Given the description of an element on the screen output the (x, y) to click on. 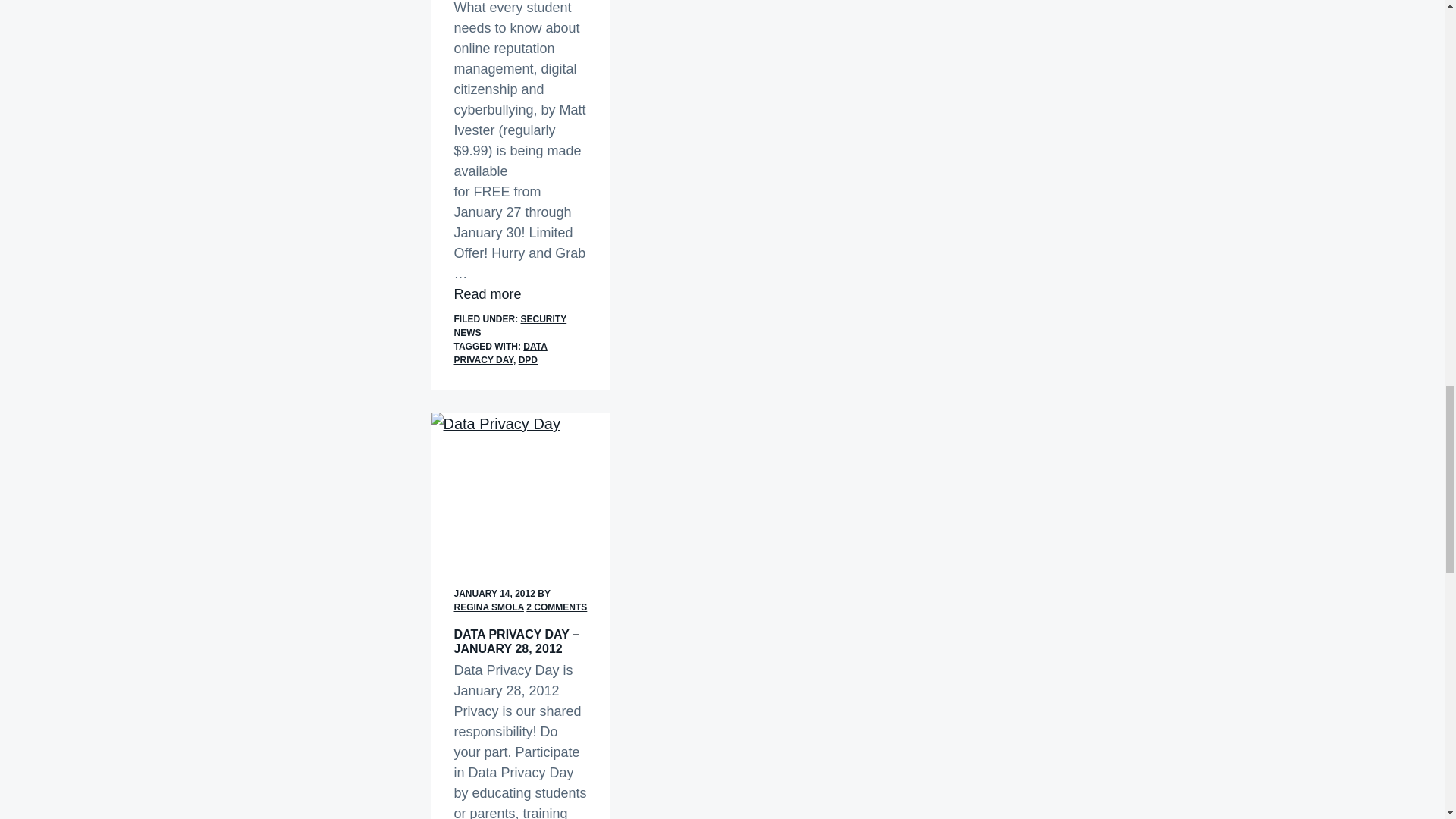
DATA PRIVACY DAY (499, 353)
SECURITY NEWS (509, 325)
DPD (527, 359)
